Given the description of an element on the screen output the (x, y) to click on. 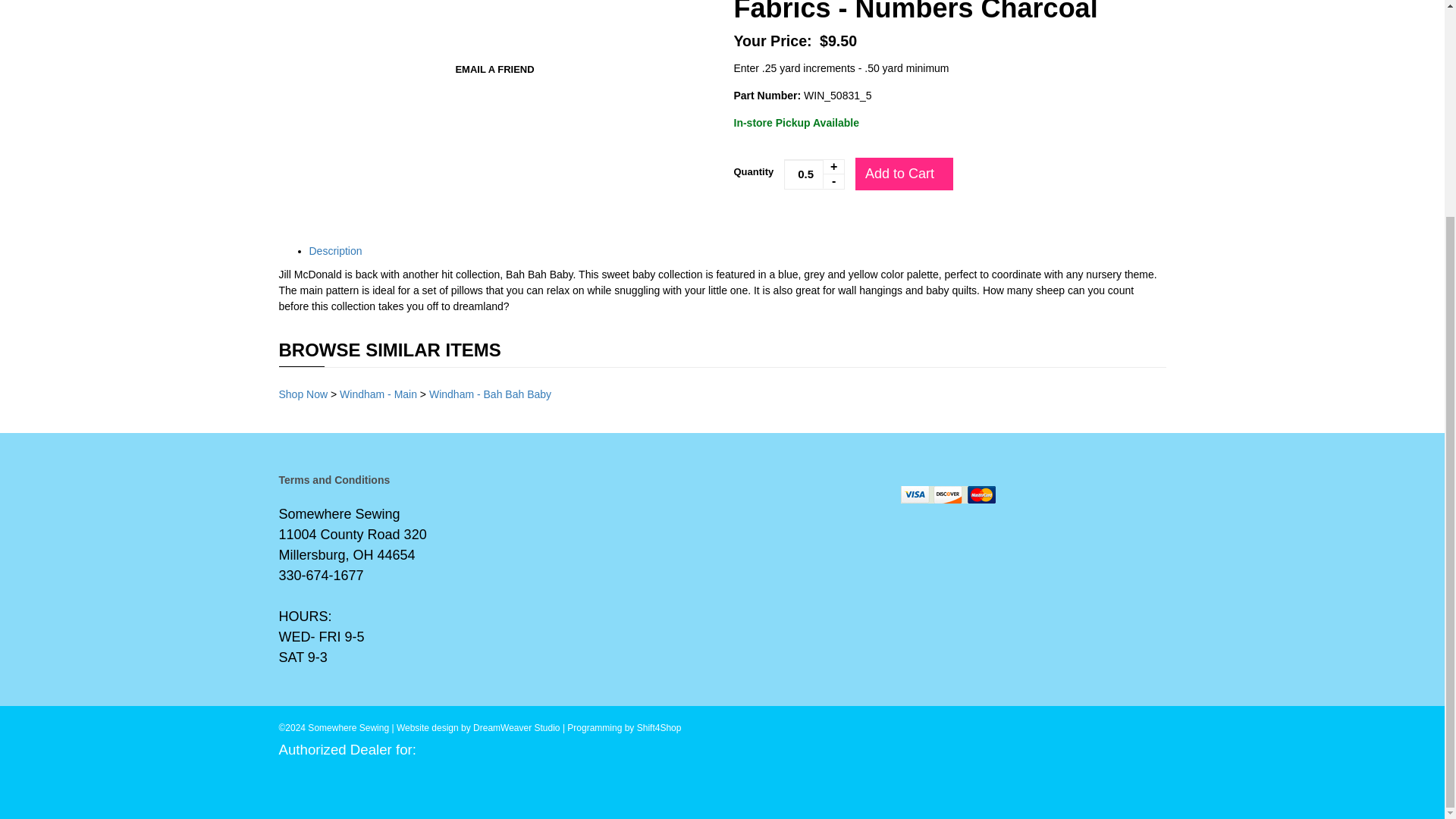
Add to Cart (904, 174)
EMAIL A FRIEND (494, 69)
- (833, 181)
Description (335, 250)
0.5 (814, 173)
Shop Now (304, 394)
